Given the description of an element on the screen output the (x, y) to click on. 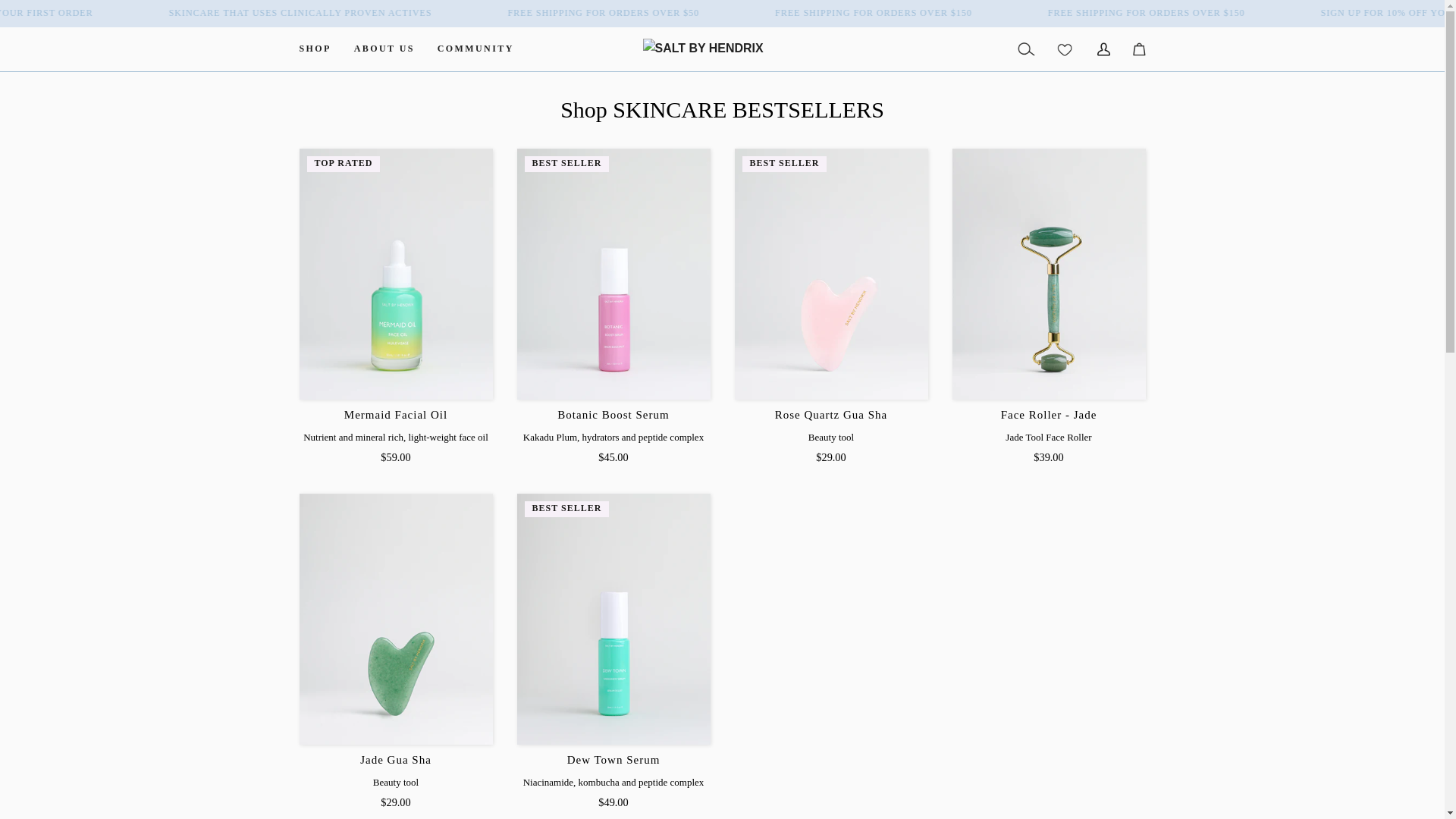
ABOUT US (384, 49)
COMMUNITY (475, 49)
SHOP (315, 49)
